Given the description of an element on the screen output the (x, y) to click on. 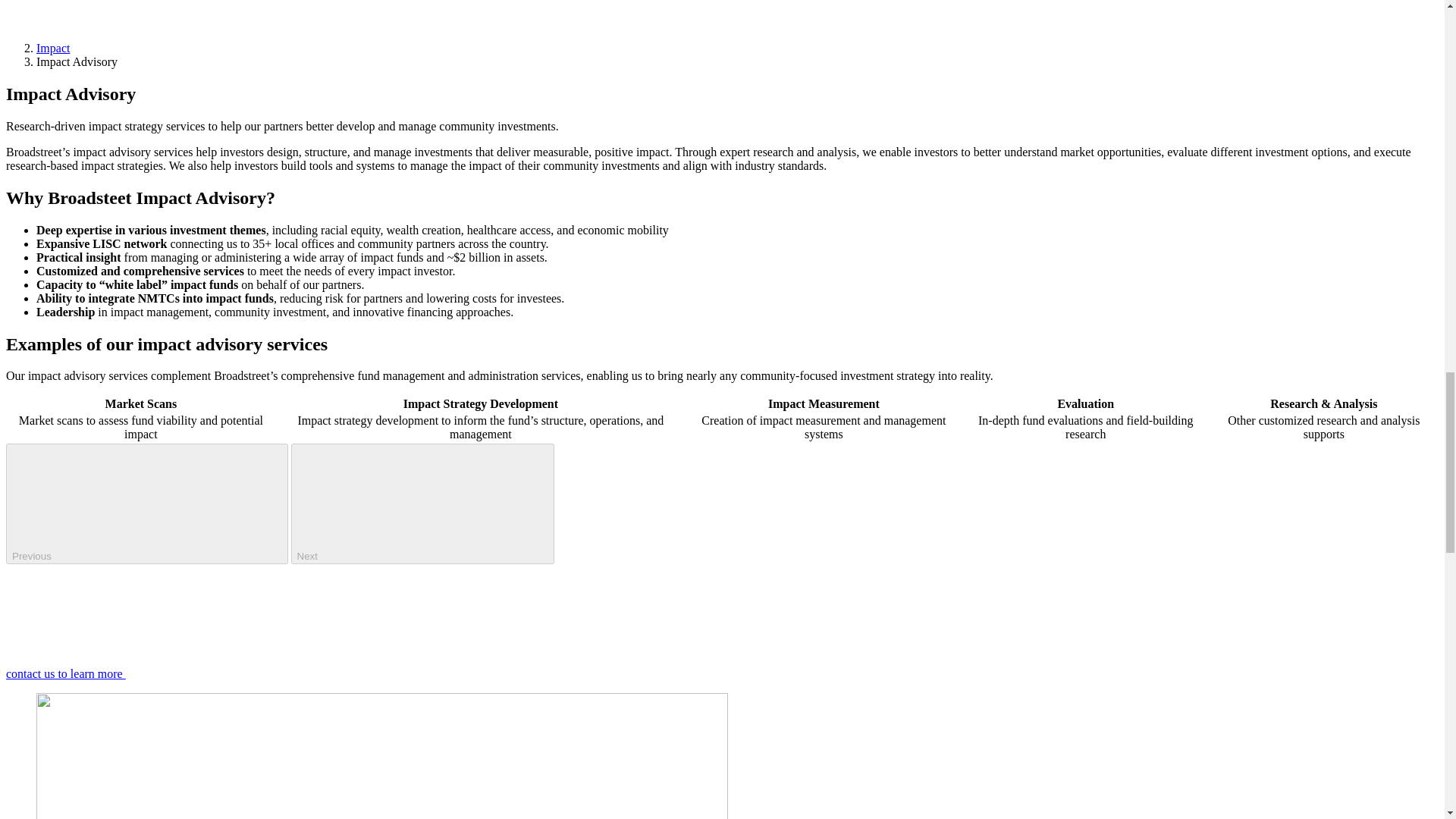
contact us to learn more (179, 673)
Impact (52, 47)
Previous (146, 503)
Next (422, 503)
